Given the description of an element on the screen output the (x, y) to click on. 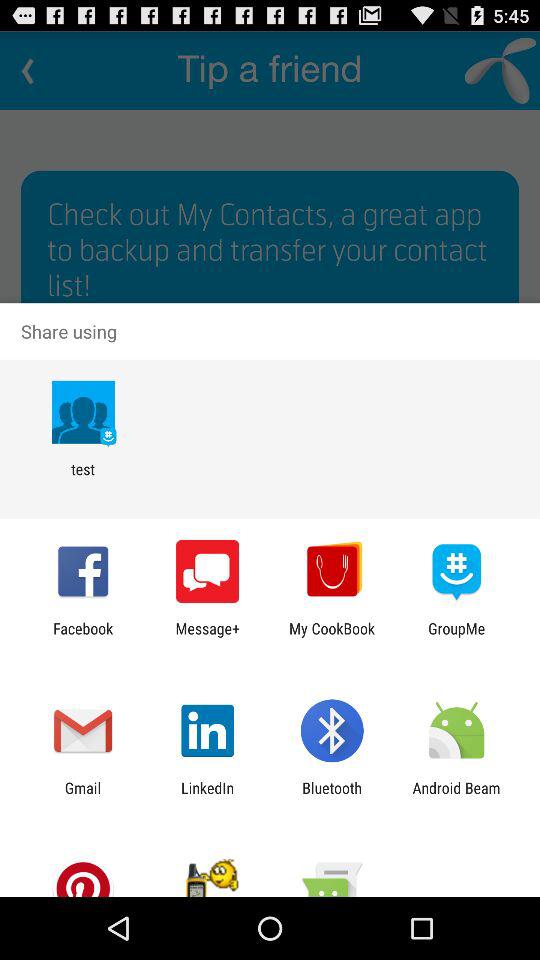
press the item to the left of groupme app (331, 637)
